Given the description of an element on the screen output the (x, y) to click on. 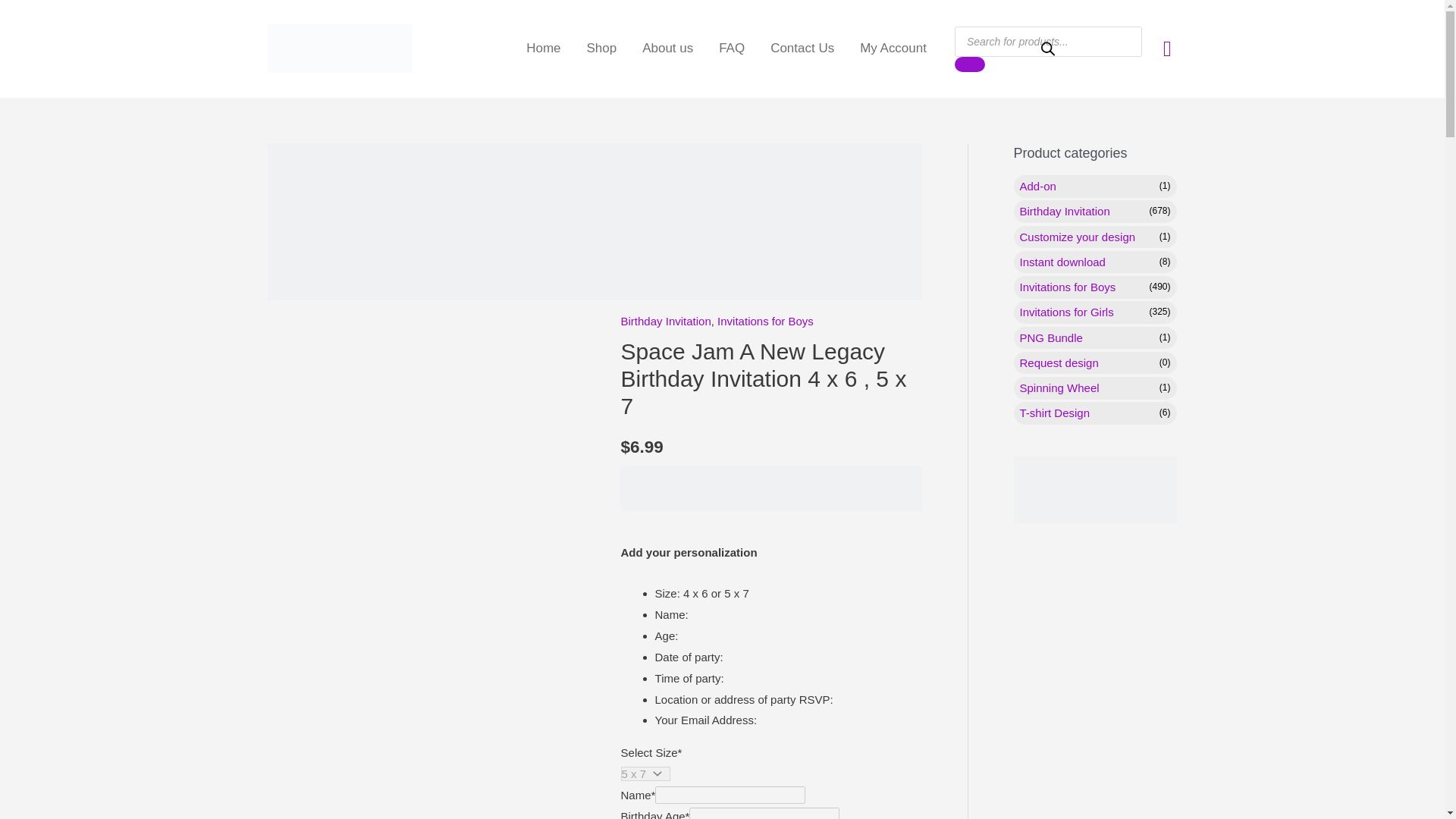
Shop (601, 48)
Home (543, 48)
Invitations for Boys (765, 320)
Contact Us (802, 48)
My Account (893, 48)
FAQ (731, 48)
About us (667, 48)
Birthday Invitation (666, 320)
